Given the description of an element on the screen output the (x, y) to click on. 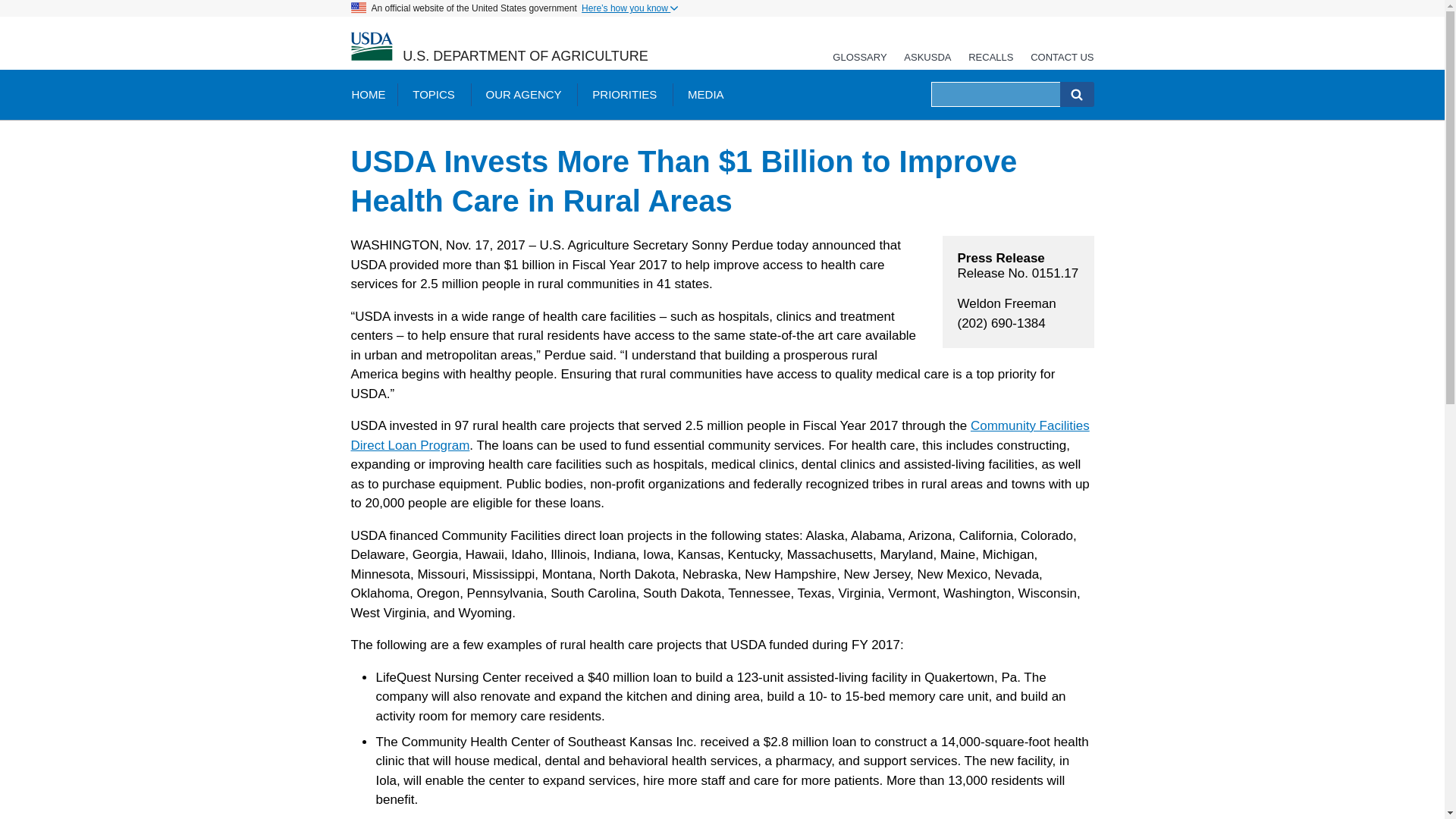
PRIORITIES (623, 94)
HOME (367, 94)
Home (525, 55)
OUR AGENCY (523, 94)
U.S. DEPARTMENT OF AGRICULTURE (525, 55)
Home (370, 46)
TOPICS (433, 94)
